Given the description of an element on the screen output the (x, y) to click on. 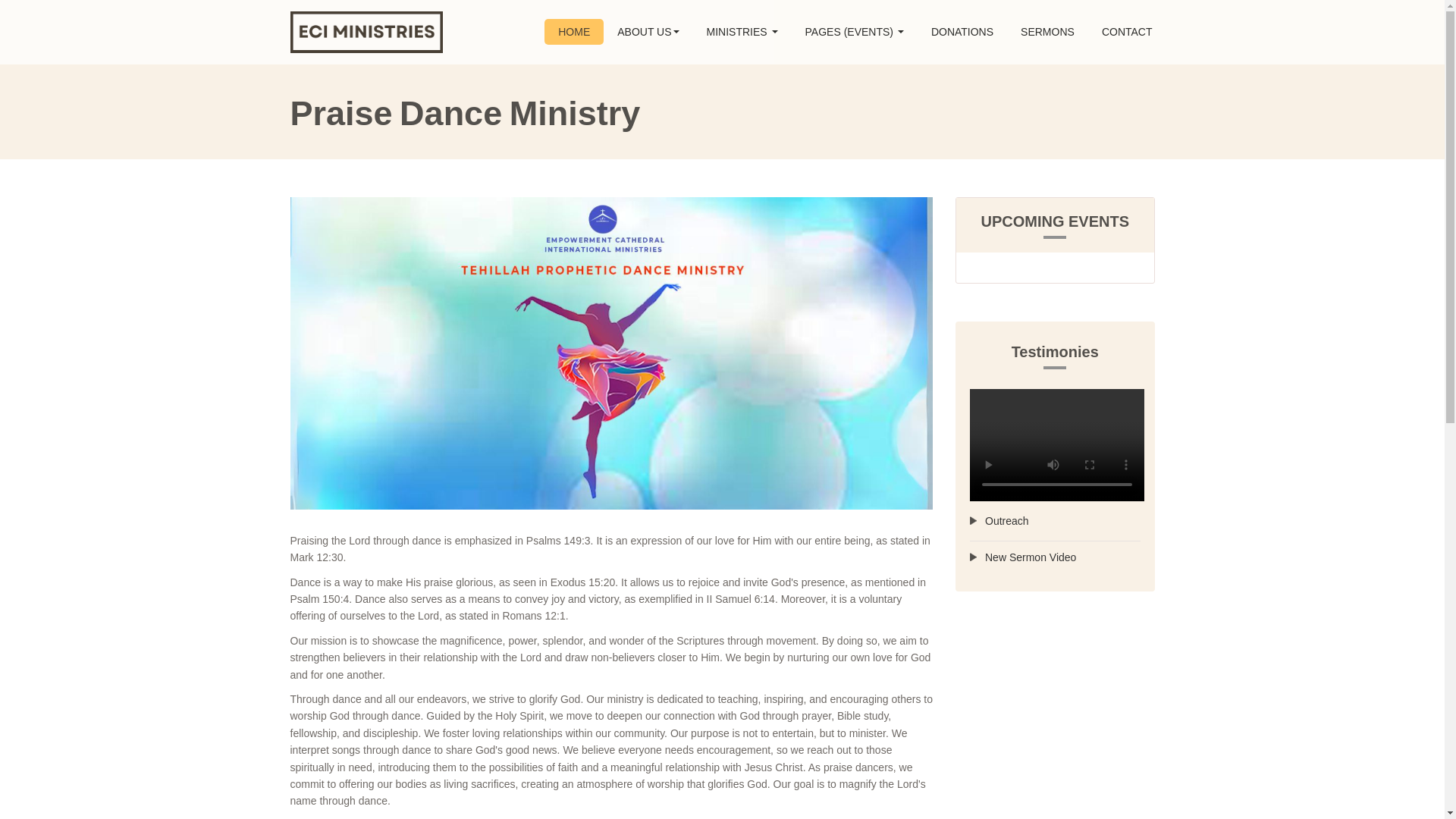
DONATIONS (962, 31)
MINISTRIES (742, 31)
SERMONS (1047, 31)
ABOUT US (648, 31)
New Sermon Video (1054, 558)
CONTACT (1126, 31)
Outreach (1054, 522)
HOME (574, 31)
